Given the description of an element on the screen output the (x, y) to click on. 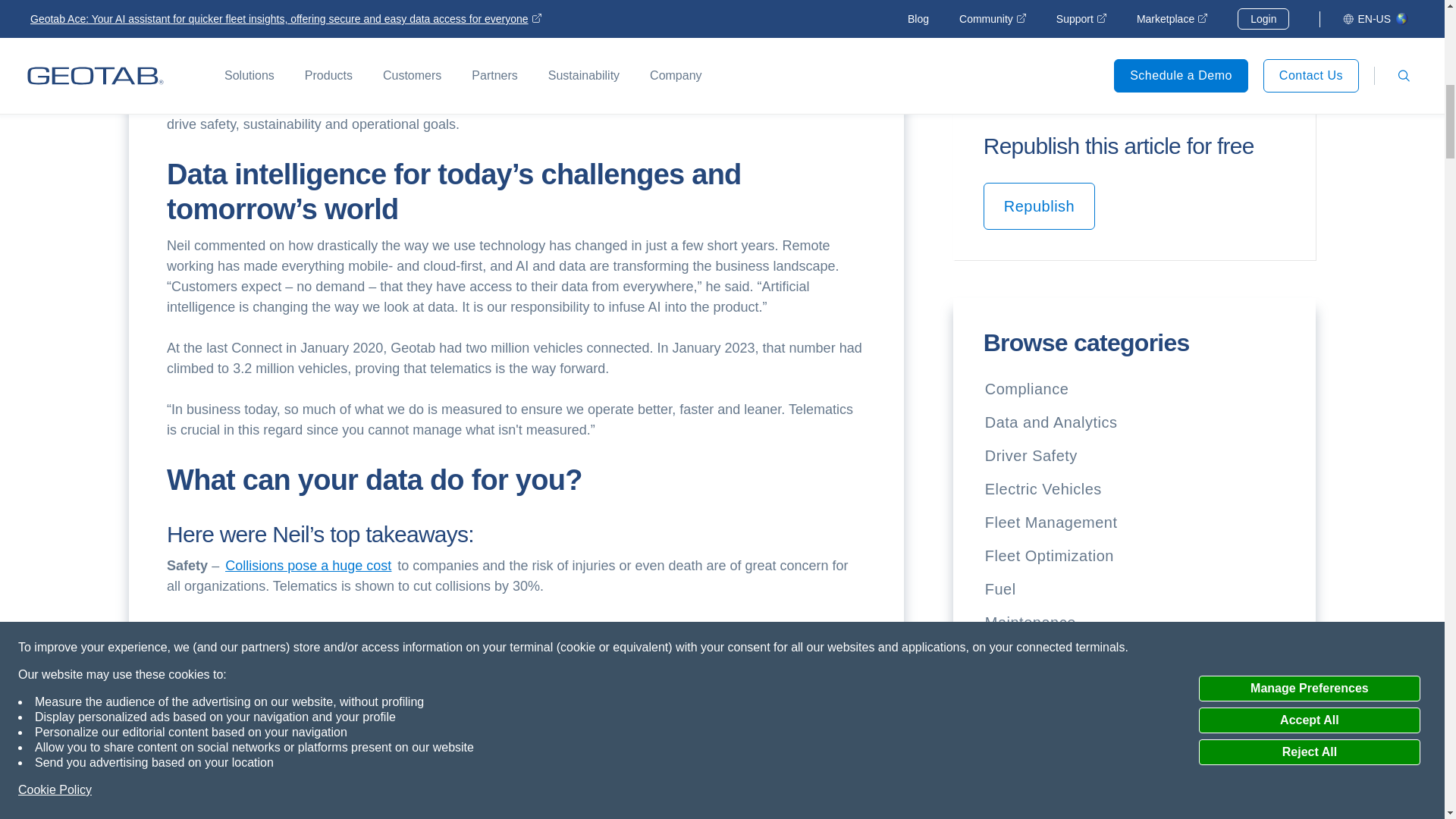
View posts in Compliance. (1026, 388)
View posts in Data and Analytics. (1051, 422)
